Given the description of an element on the screen output the (x, y) to click on. 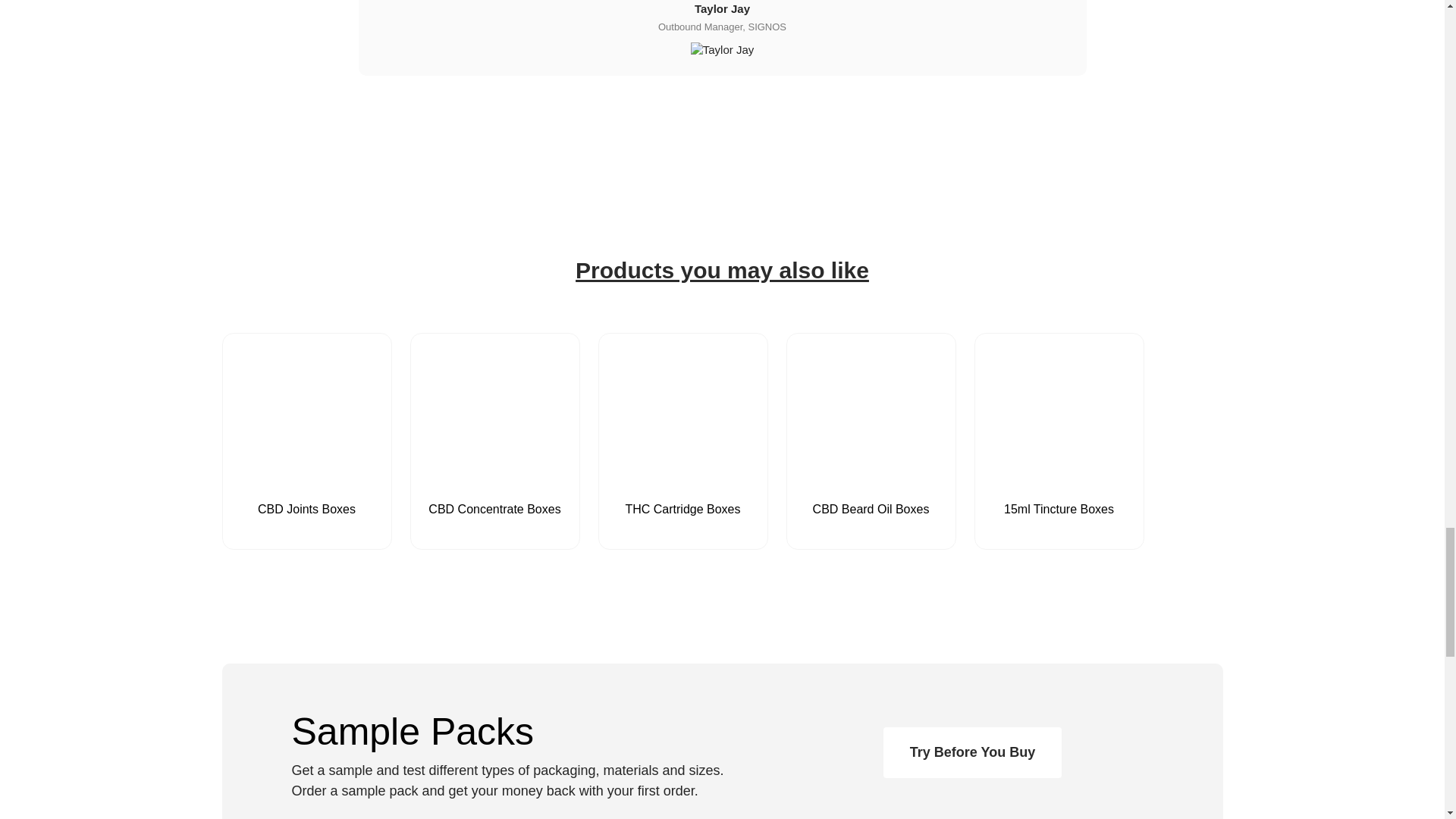
CBD Concentrate Boxes (495, 470)
contact button (972, 752)
CBD Joints Boxes (307, 470)
CBD Beard Oil Boxes (870, 470)
15ml Tincture Boxes (1058, 470)
THC Cartridge Boxes (683, 470)
